Given the description of an element on the screen output the (x, y) to click on. 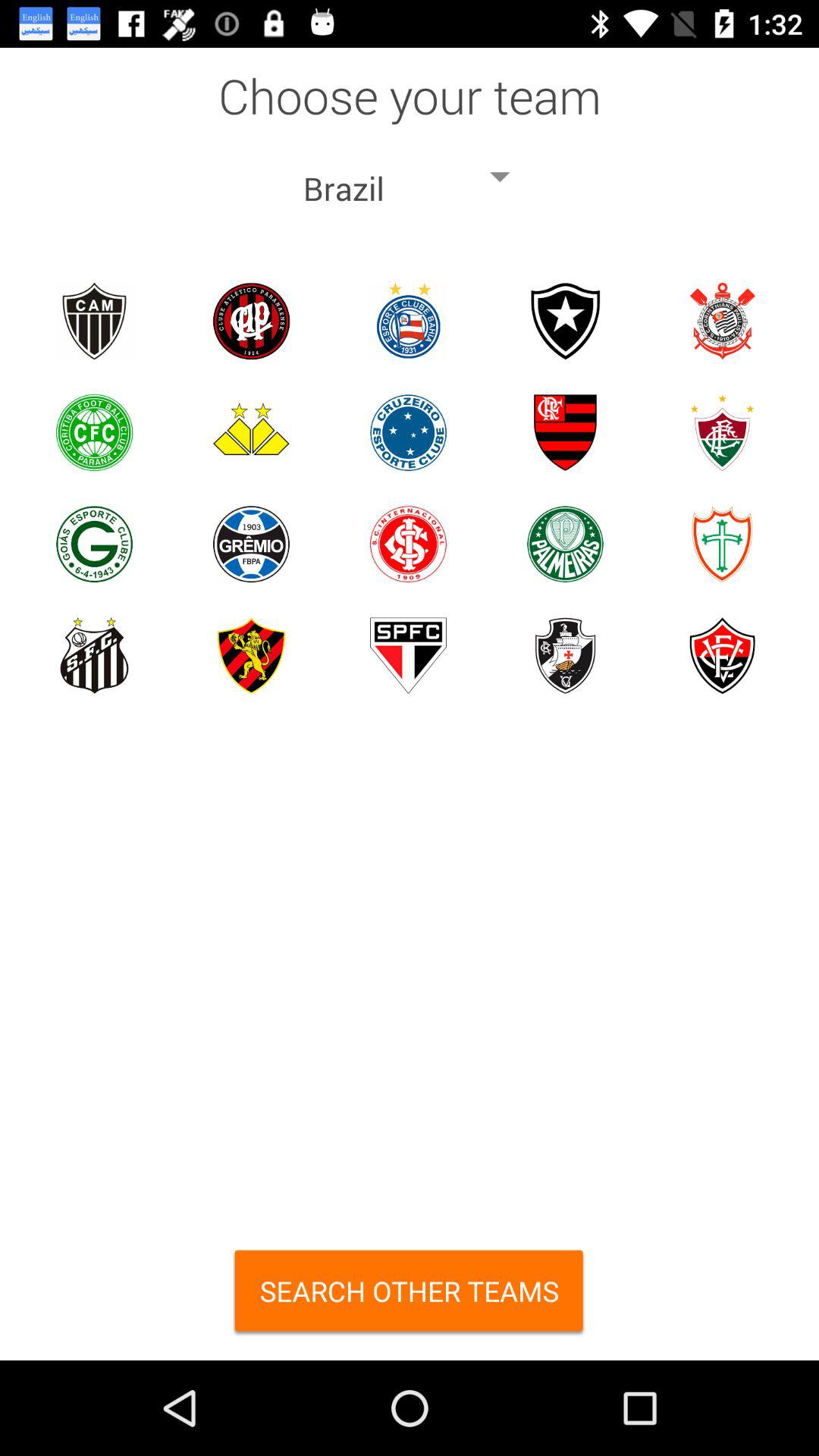
so paulo football club (408, 655)
